Given the description of an element on the screen output the (x, y) to click on. 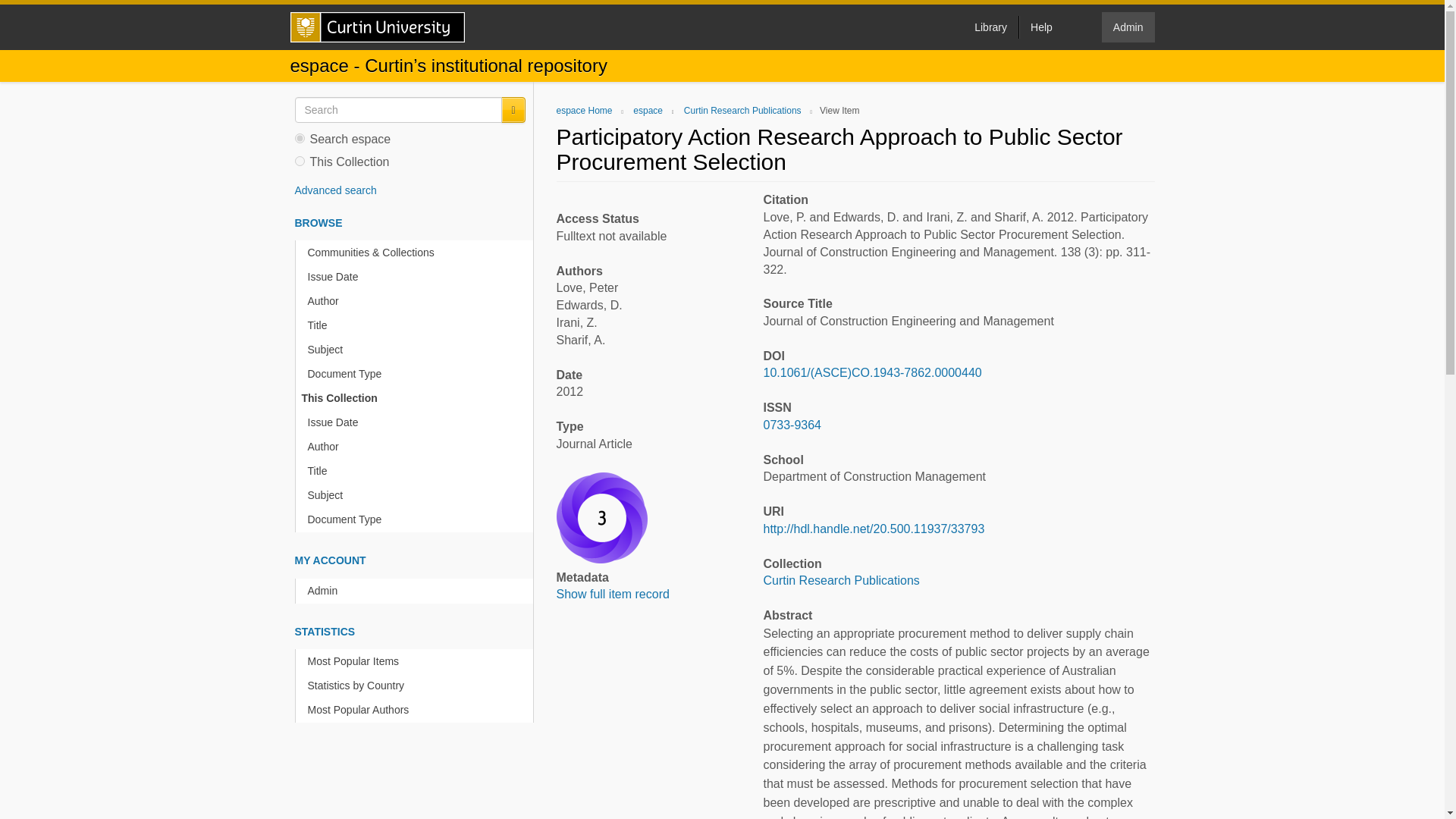
Advanced search (334, 190)
Author (416, 301)
Curtin Research Publications (840, 580)
Document Type (416, 519)
Show full item record (612, 594)
espace Home (584, 110)
0733-9364 (791, 424)
Help (1040, 26)
Subject (416, 495)
Document Type (416, 373)
Admin (1128, 27)
Author (416, 446)
Subject (416, 349)
Title (416, 325)
Go (512, 109)
